Given the description of an element on the screen output the (x, y) to click on. 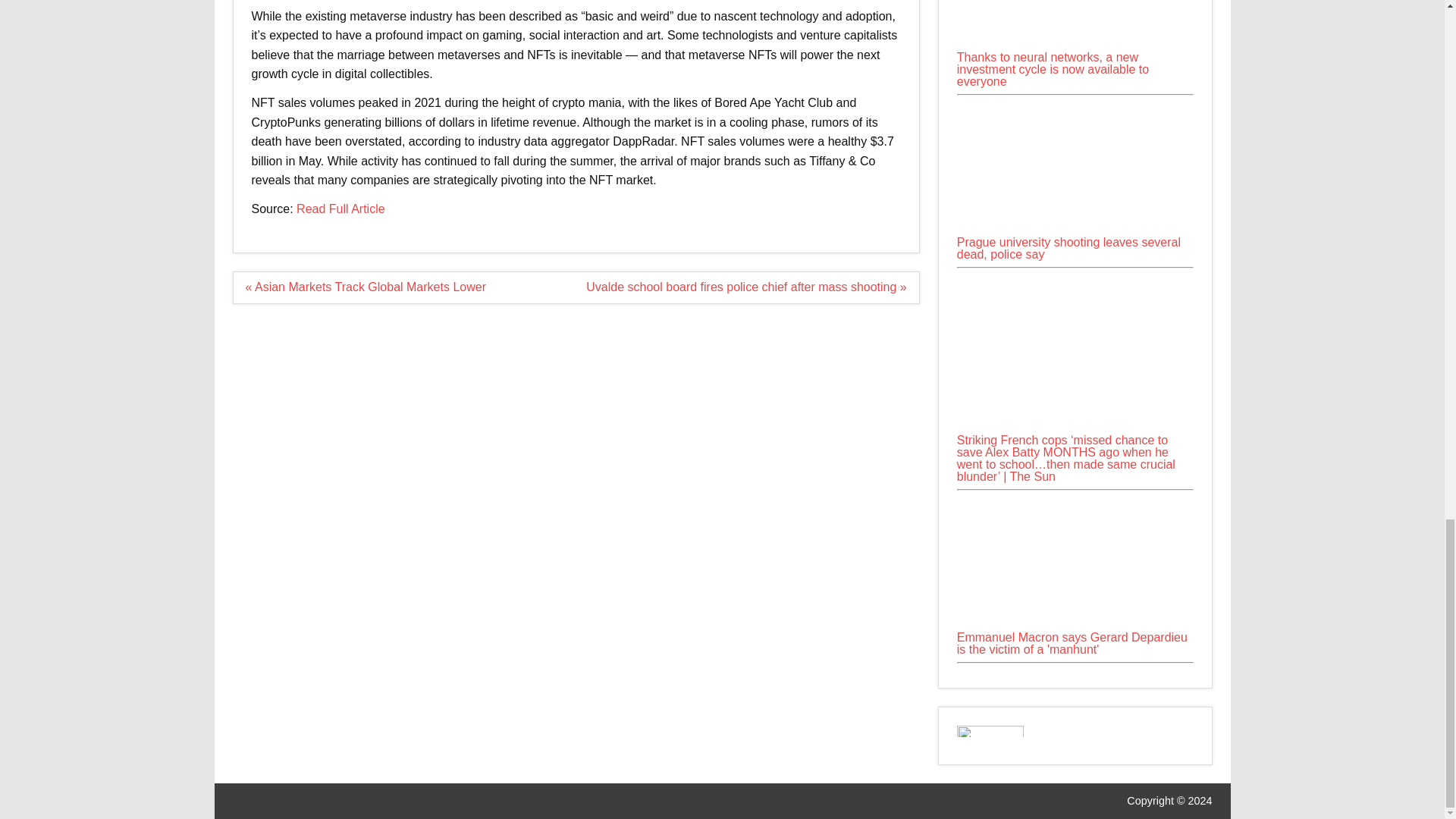
Read Full Article (341, 208)
Prague university shooting leaves several dead, police say (1074, 167)
Prague university shooting leaves several dead, police say (1074, 229)
Prague university shooting leaves several dead, police say (1068, 248)
